Given the description of an element on the screen output the (x, y) to click on. 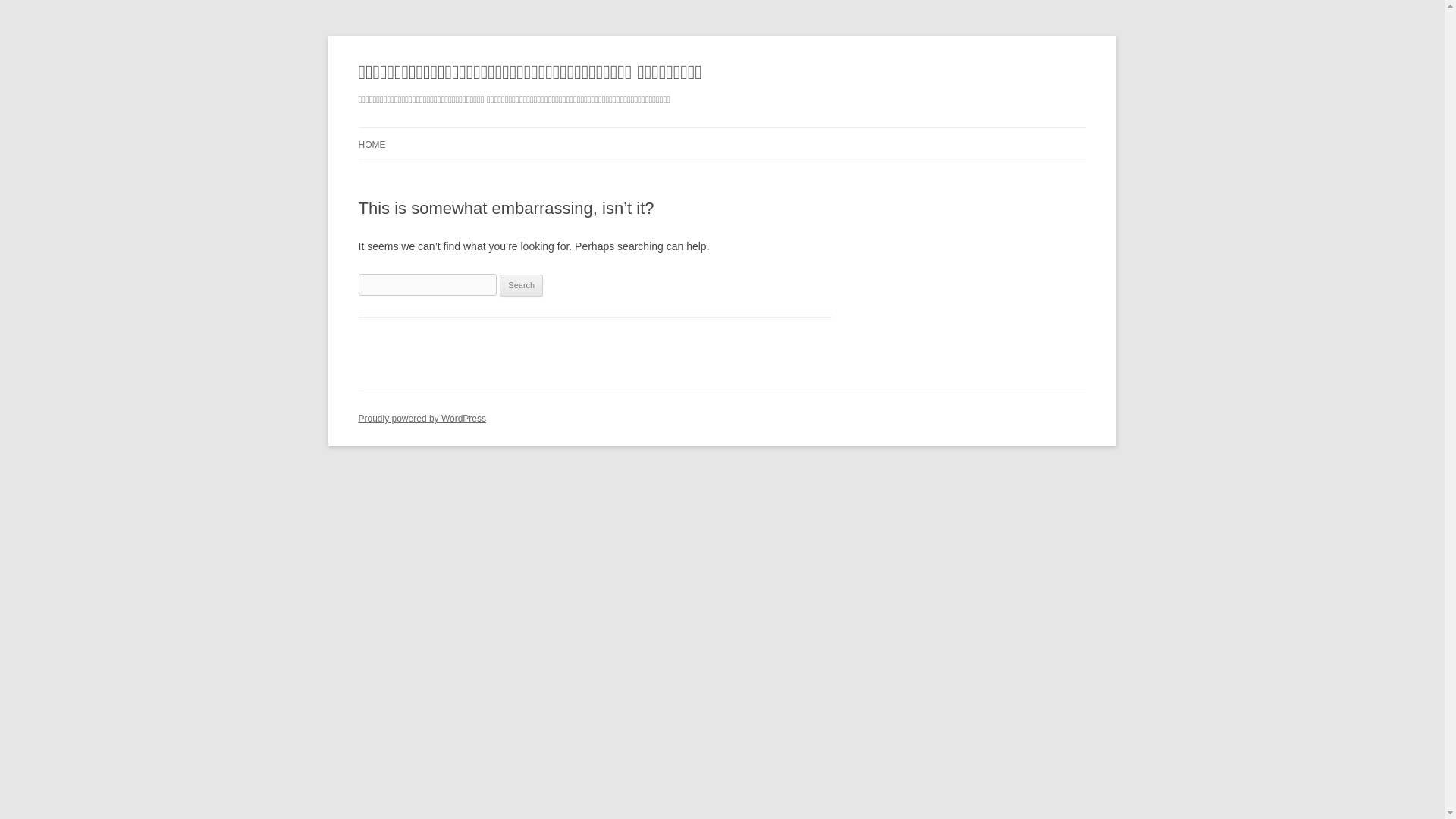
Search (521, 285)
Search (521, 285)
